Given the description of an element on the screen output the (x, y) to click on. 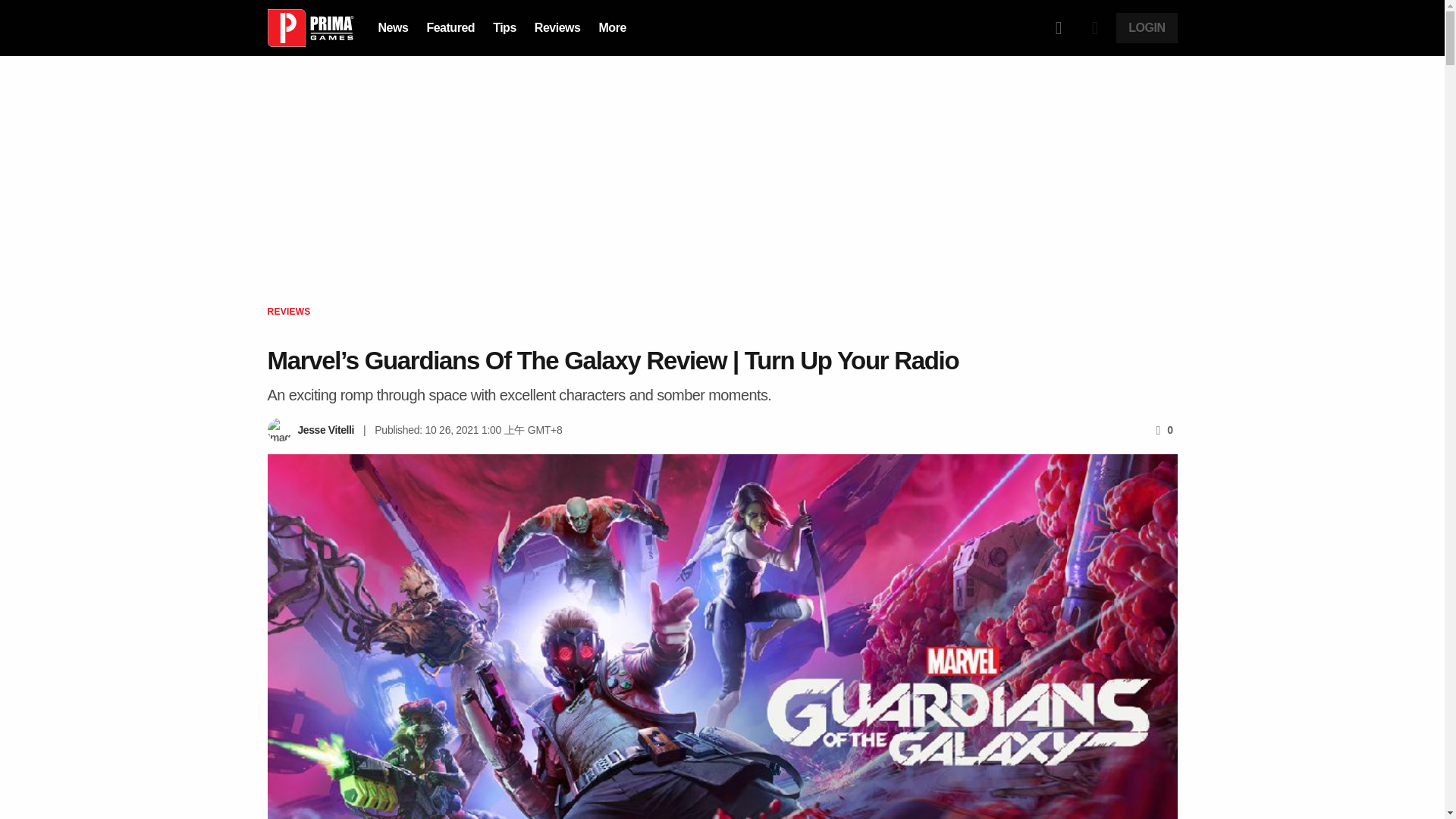
News (392, 27)
Tips (504, 27)
Dark Mode (1094, 28)
Featured (450, 27)
LOGIN (1146, 28)
Reviews (557, 27)
Search (1058, 28)
